Given the description of an element on the screen output the (x, y) to click on. 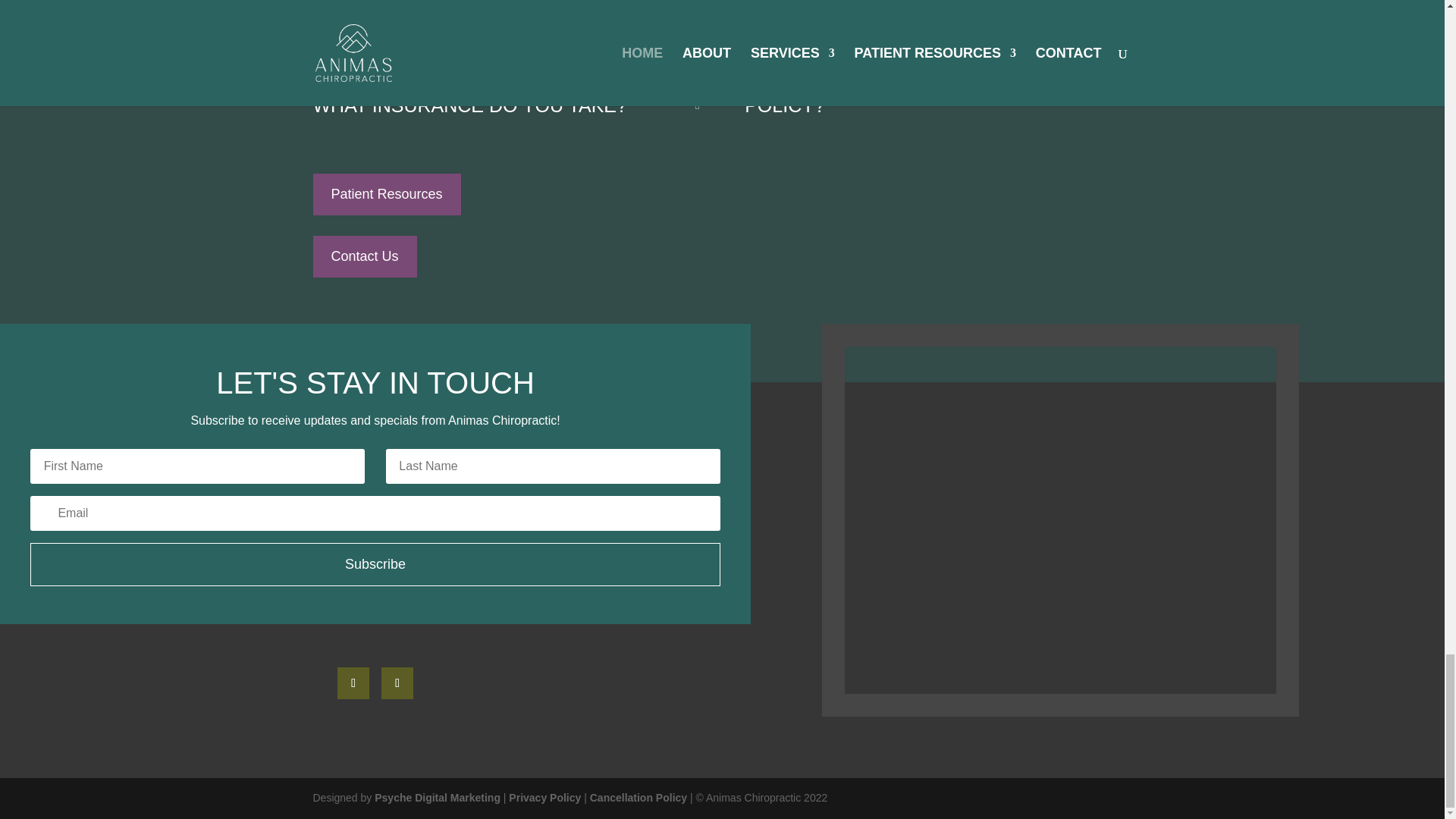
Privacy Policy (544, 797)
Cancellation Policy (636, 797)
Follow on Facebook (353, 683)
Psyche Digital Marketing (437, 797)
Subscribe (375, 564)
Follow on Instagram (397, 683)
Contact Us (364, 256)
Patient Resources (386, 194)
